Given the description of an element on the screen output the (x, y) to click on. 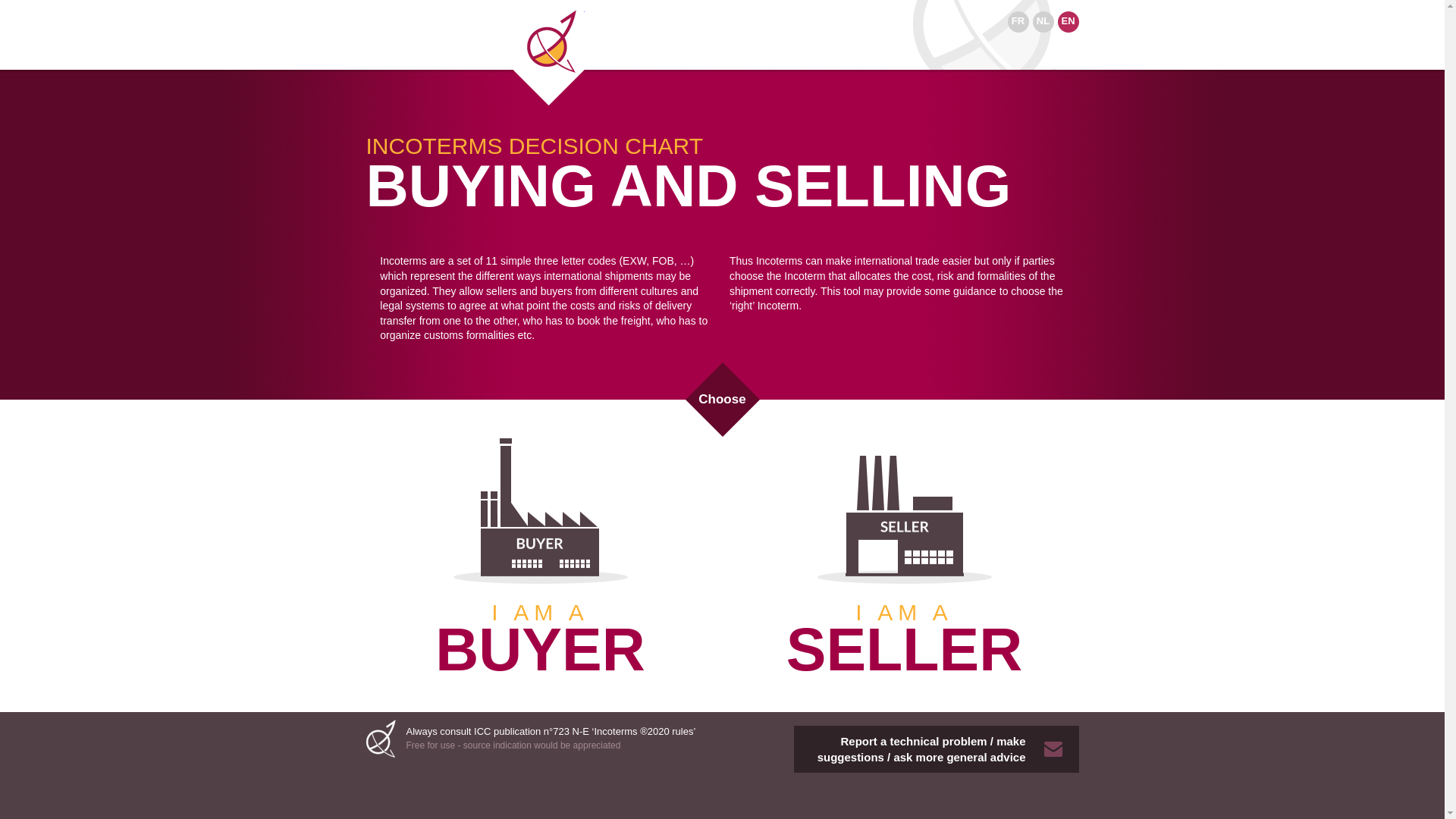
FR Element type: text (1017, 21)
NL Element type: text (1043, 21)
Belgian Foreign Trade Agency Element type: text (548, 52)
I AM A
BUYER Element type: text (539, 549)
Belgian Foreign Trade Agency Element type: hover (381, 738)
EN Element type: text (1067, 21)
I AM A
SELLER Element type: text (903, 549)
